Given the description of an element on the screen output the (x, y) to click on. 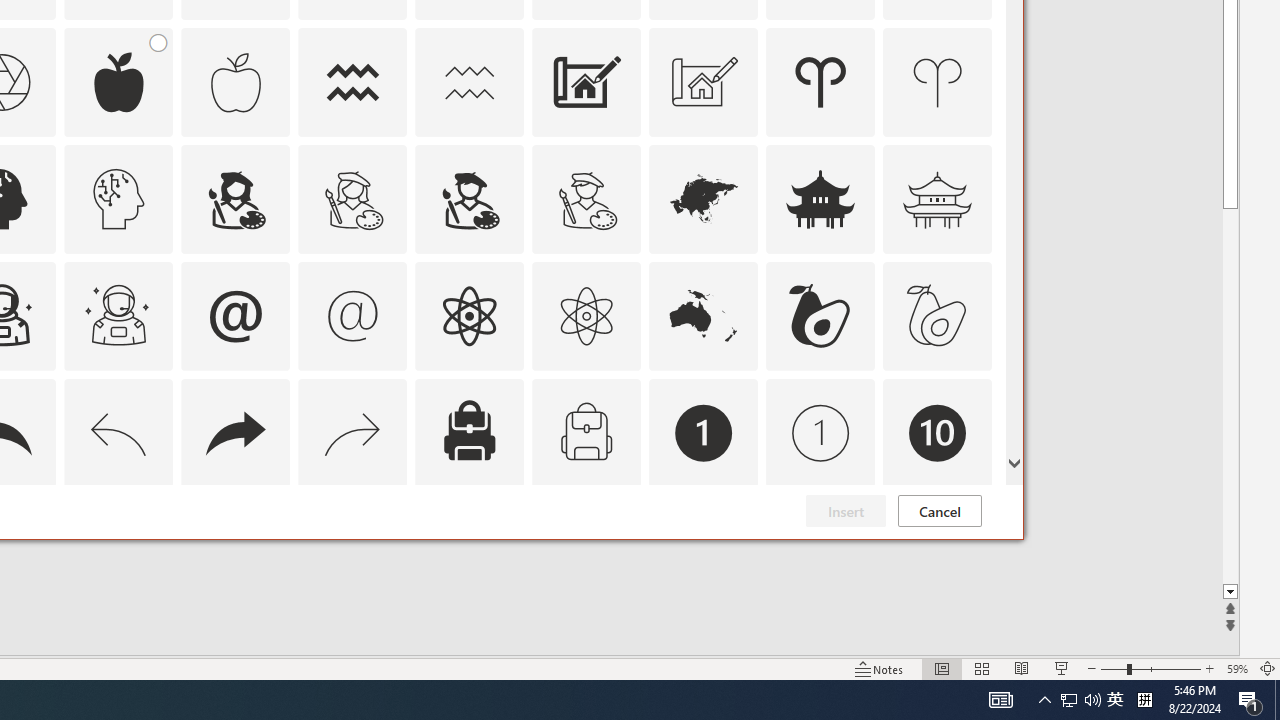
AutomationID: Icons_Badge8_M (703, 550)
Thumbnail (977, 511)
AutomationID: Icons_Apple (118, 82)
AutomationID: Icons_Badge6 (118, 550)
AutomationID: Icons_ArtificialIntelligence_M (118, 198)
AutomationID: Icons (937, 550)
AutomationID: Icons_Aquarius_M (469, 82)
AutomationID: Icons_Badge6_M (235, 550)
AutomationID: Icons_ArtistMale (469, 198)
